Given the description of an element on the screen output the (x, y) to click on. 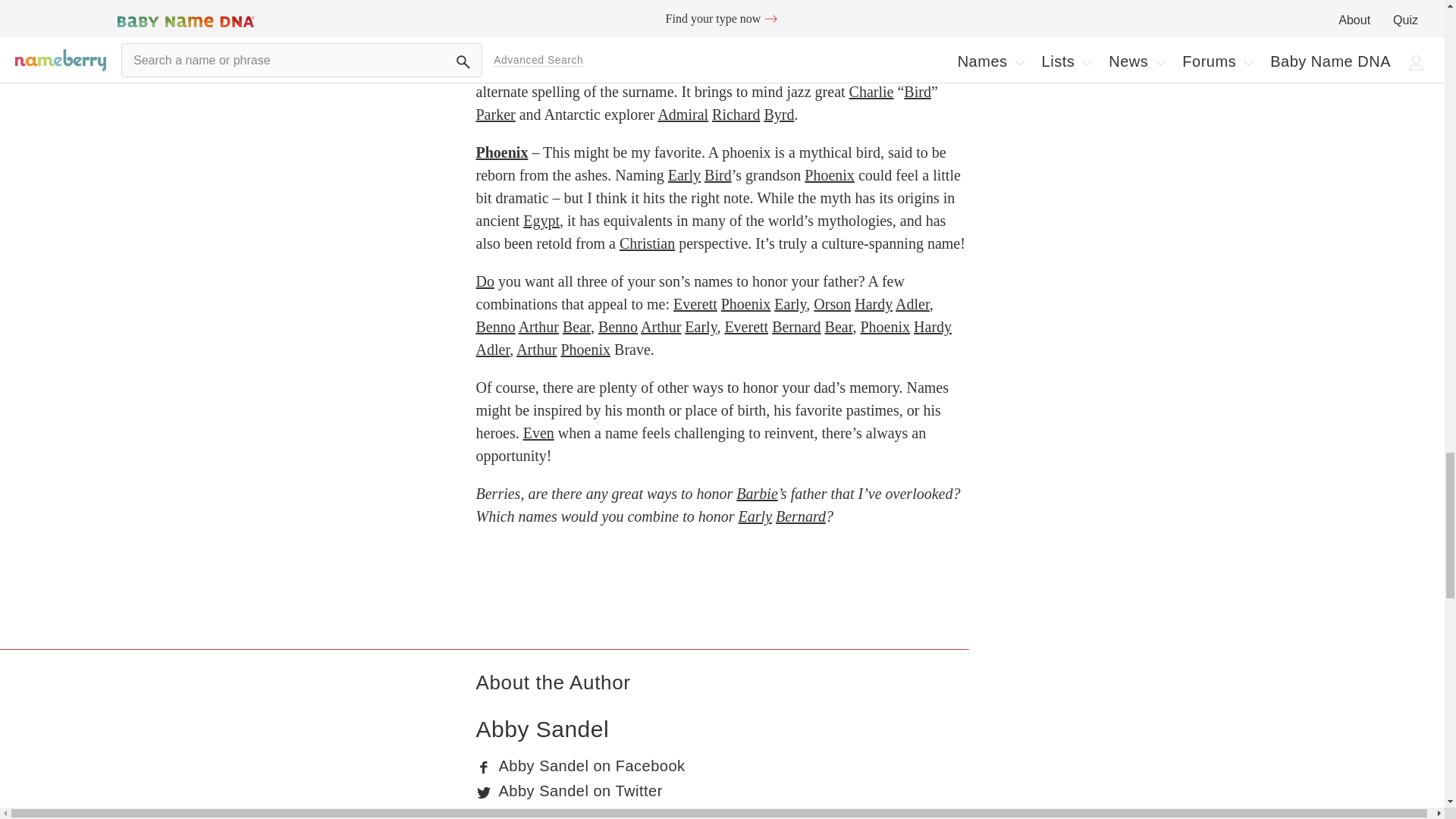
Twitter (484, 792)
Facebook (484, 767)
Link (484, 814)
